Given the description of an element on the screen output the (x, y) to click on. 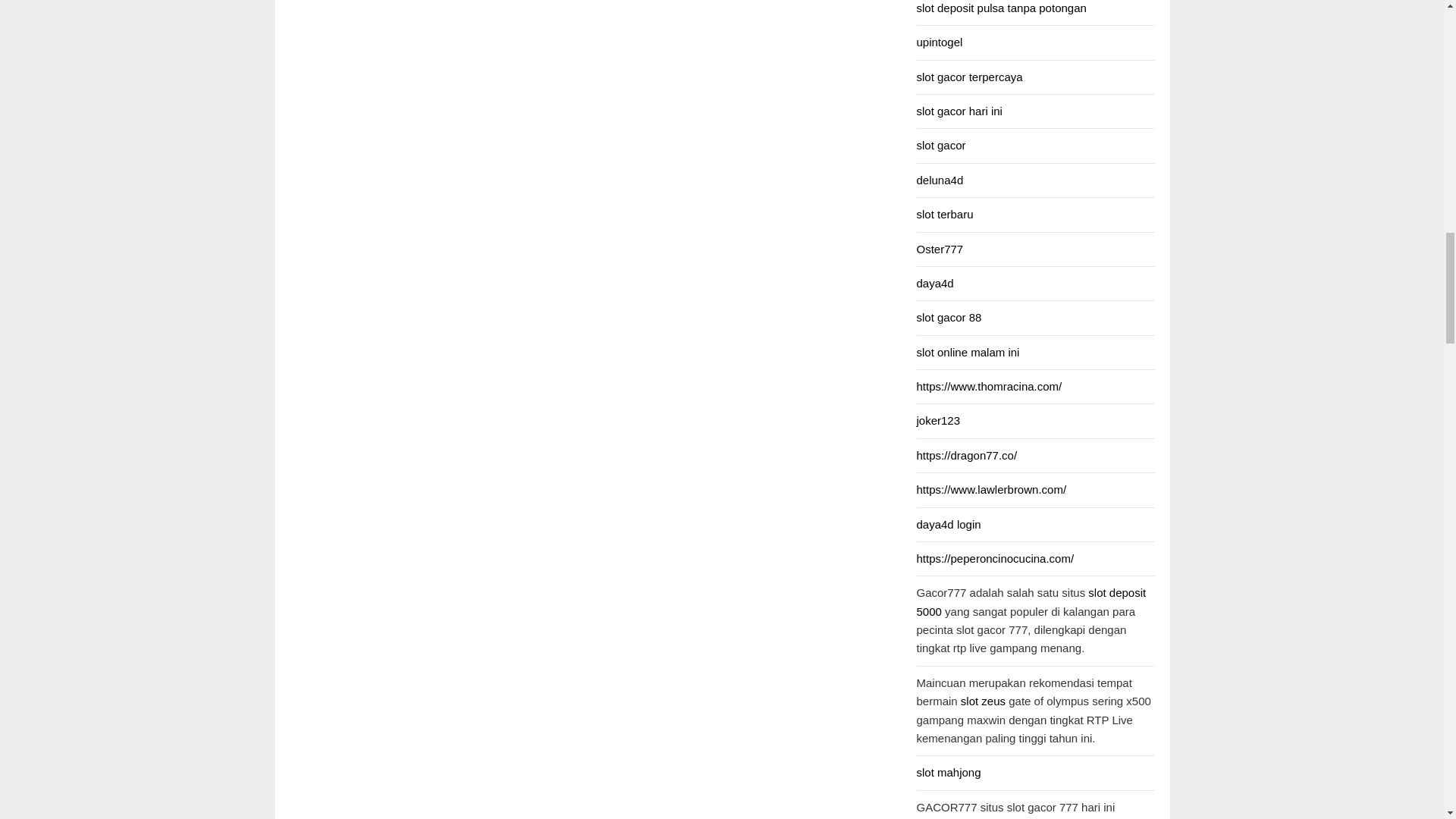
upintogel (938, 42)
slot gacor terpercaya (968, 76)
slot deposit pulsa tanpa potongan (1000, 7)
slot gacor (940, 144)
deluna4d (938, 179)
